Given the description of an element on the screen output the (x, y) to click on. 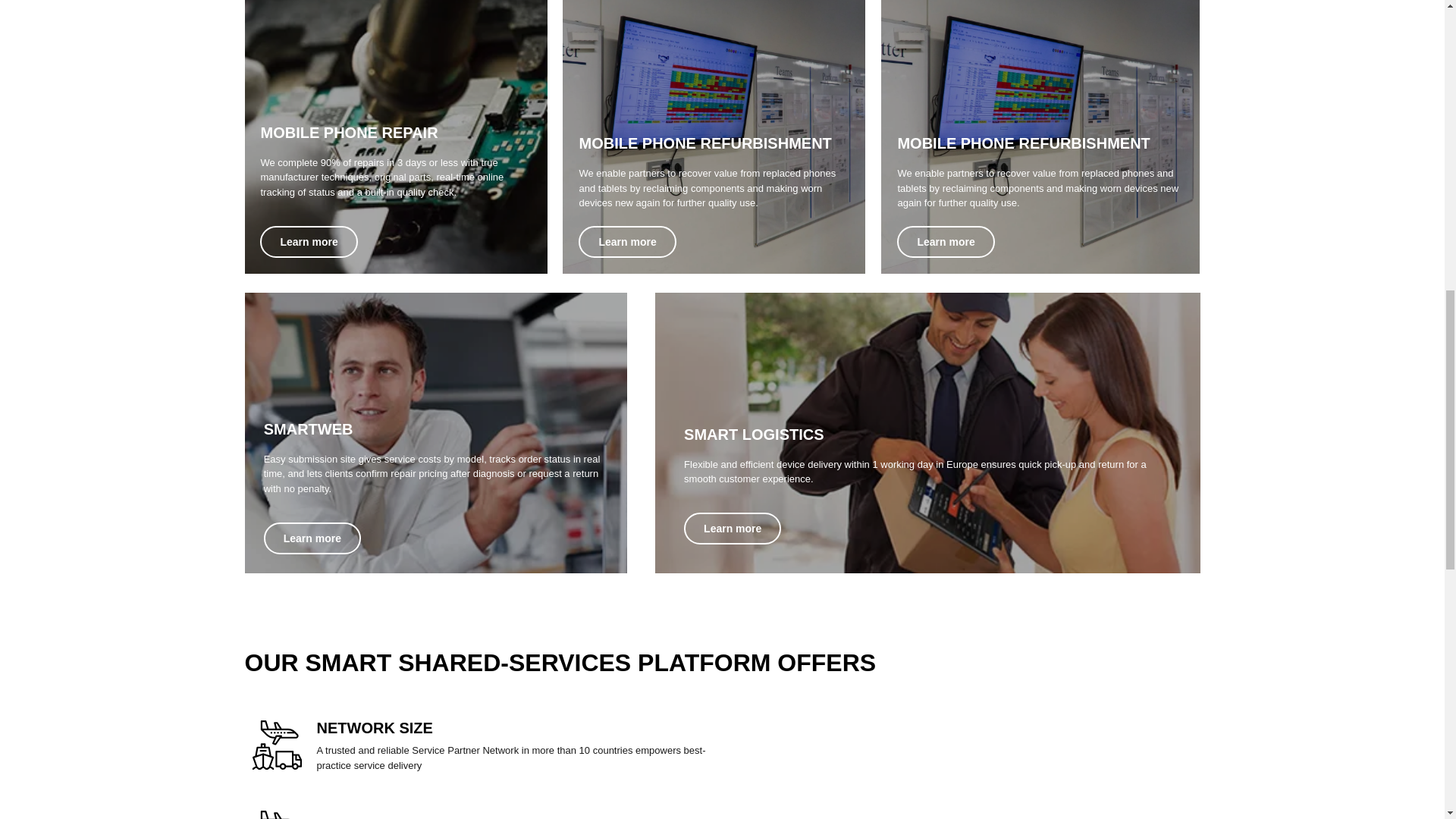
Learn more (732, 528)
Learn more (626, 241)
Learn more (312, 538)
Learn more (308, 241)
Learn more (945, 241)
